Given the description of an element on the screen output the (x, y) to click on. 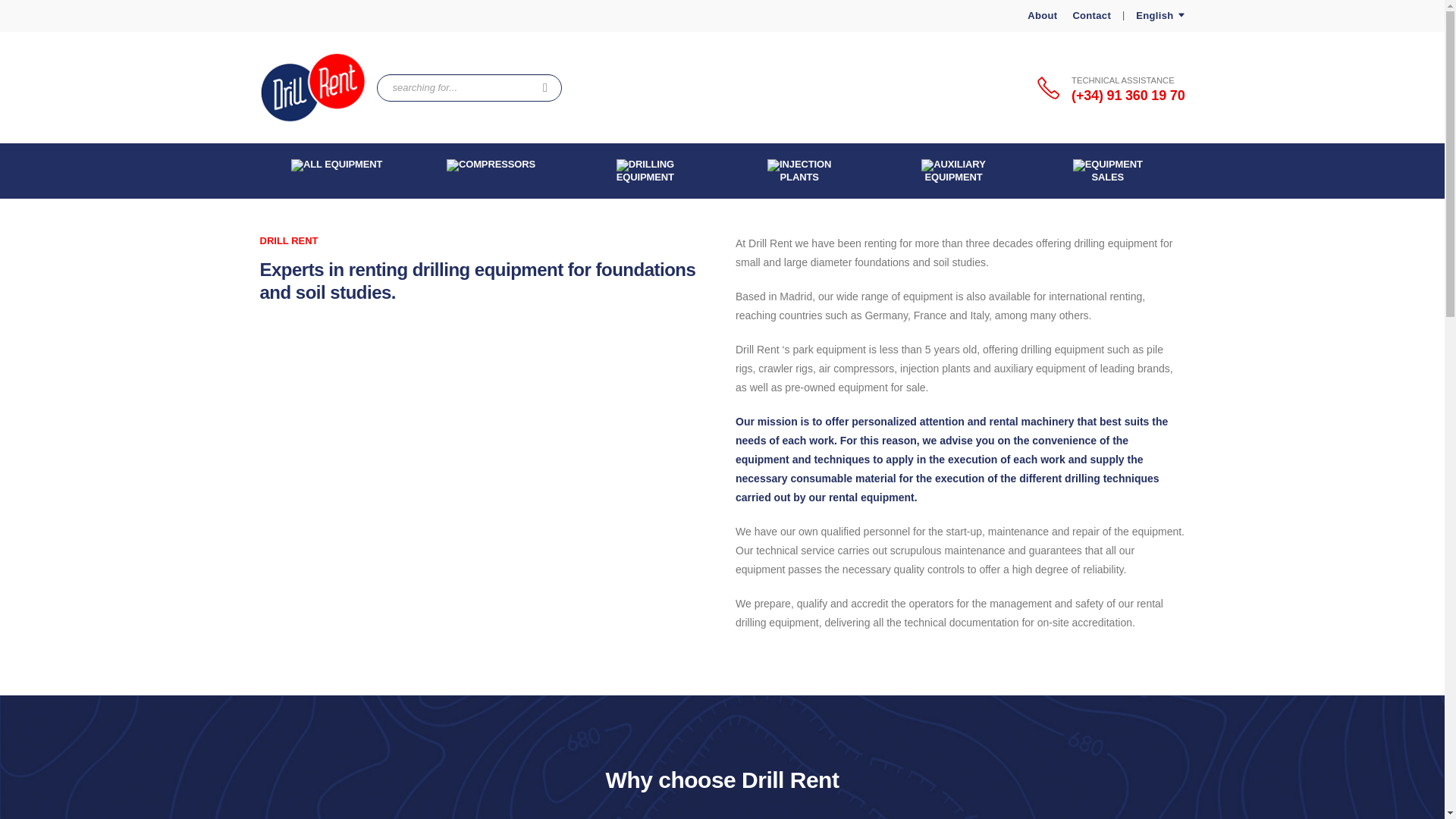
Search (545, 87)
INJECTION PLANTS (799, 171)
Contact (1091, 15)
EQUIPMENT SALES (1107, 171)
English (1158, 15)
About (1044, 15)
AUXILIARY EQUIPMENT (953, 171)
English (1158, 15)
ALL EQUIPMENT (336, 171)
COMPRESSORS (490, 171)
DRILLING EQUIPMENT (644, 171)
